Given the description of an element on the screen output the (x, y) to click on. 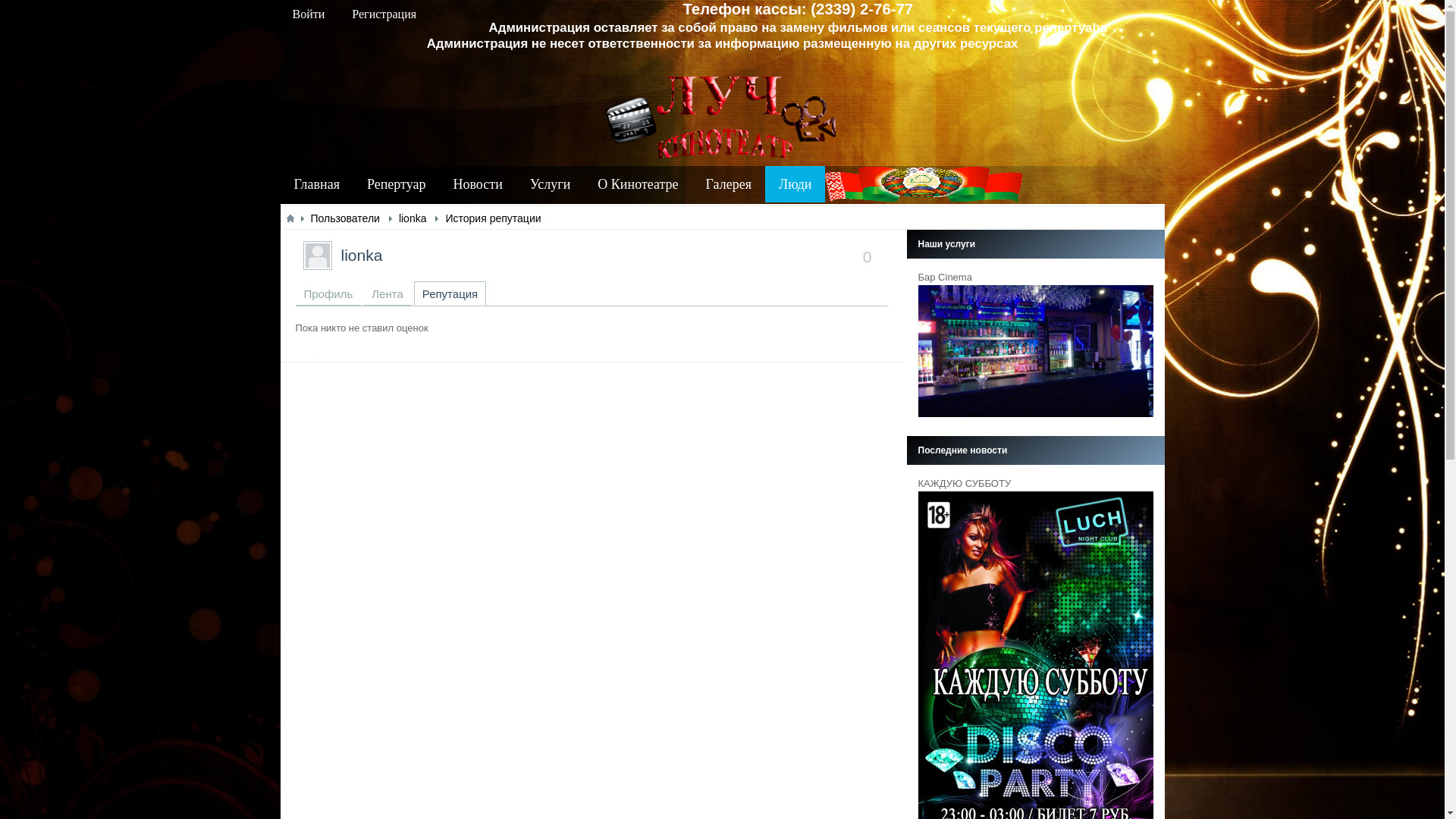
lionka Element type: text (361, 254)
